Given the description of an element on the screen output the (x, y) to click on. 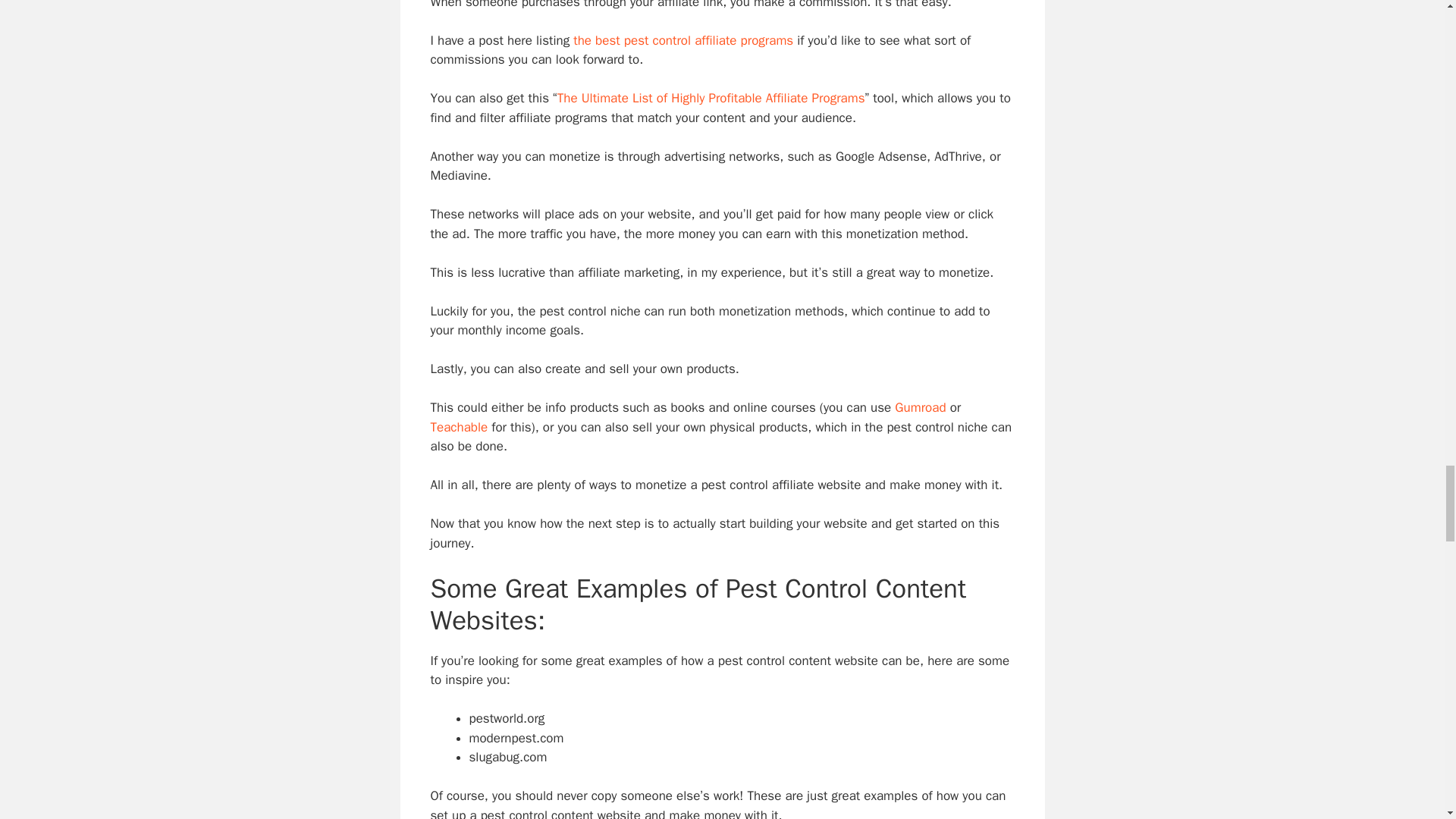
Teachable (458, 426)
the best pest control affiliate programs (683, 40)
The Ultimate List of Highly Profitable Affiliate Programs (710, 98)
Gumroad (919, 407)
